Given the description of an element on the screen output the (x, y) to click on. 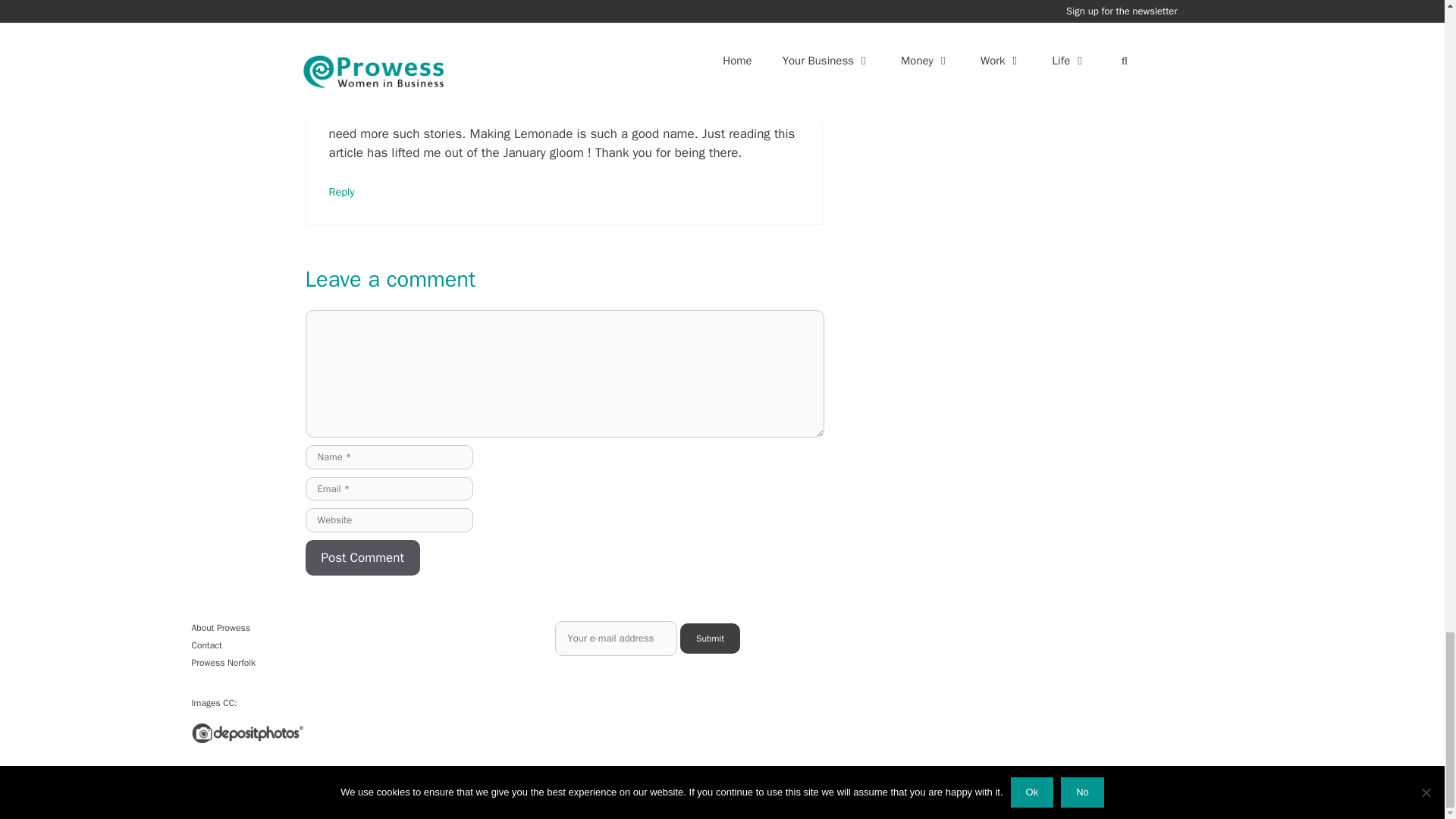
Post Comment (361, 557)
Submit (709, 638)
